Given the description of an element on the screen output the (x, y) to click on. 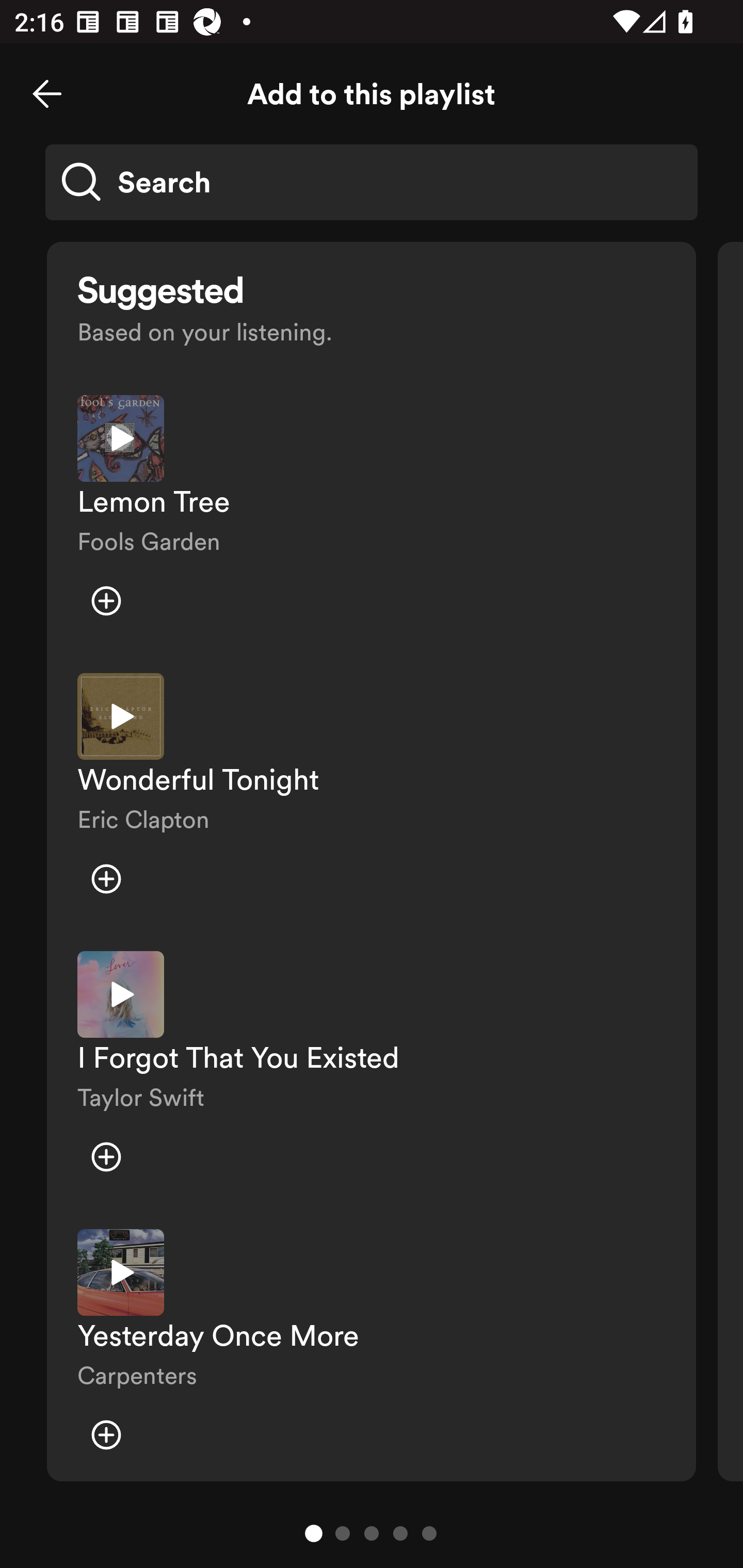
Close (46, 93)
Search (371, 181)
Play preview Lemon Tree Fools Garden Add item (371, 519)
Play preview (120, 438)
Add item (106, 601)
Play preview (120, 716)
Add item (106, 878)
Play preview (120, 994)
Add item (106, 1156)
Play preview (120, 1272)
Add item (106, 1435)
